Given the description of an element on the screen output the (x, y) to click on. 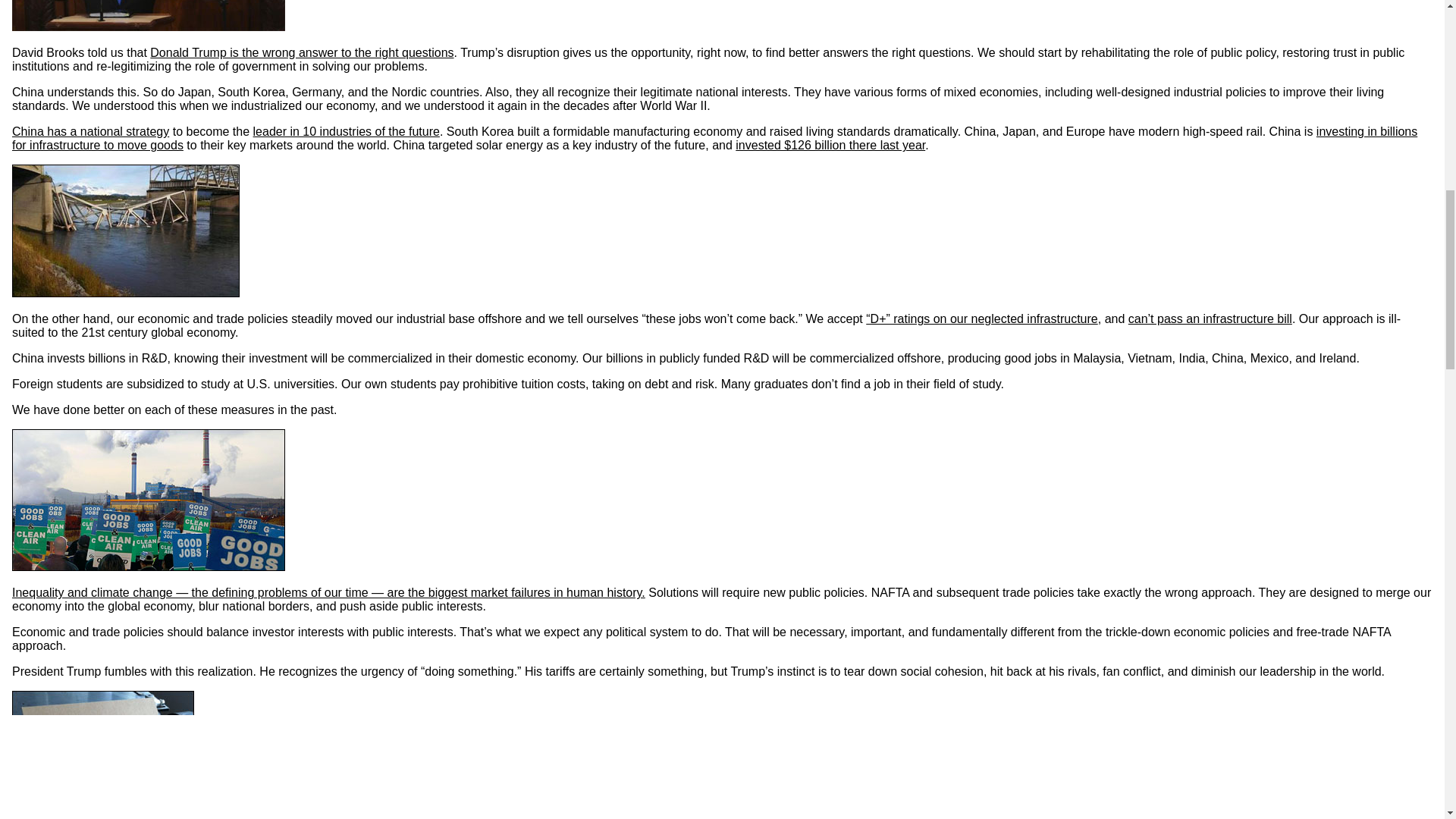
China has a national strategy (89, 131)
investing in billions for infrastructure to move goods (713, 138)
Donald Trump is the wrong answer to the right questions (300, 51)
leader in 10 industries of the future (346, 131)
